Given the description of an element on the screen output the (x, y) to click on. 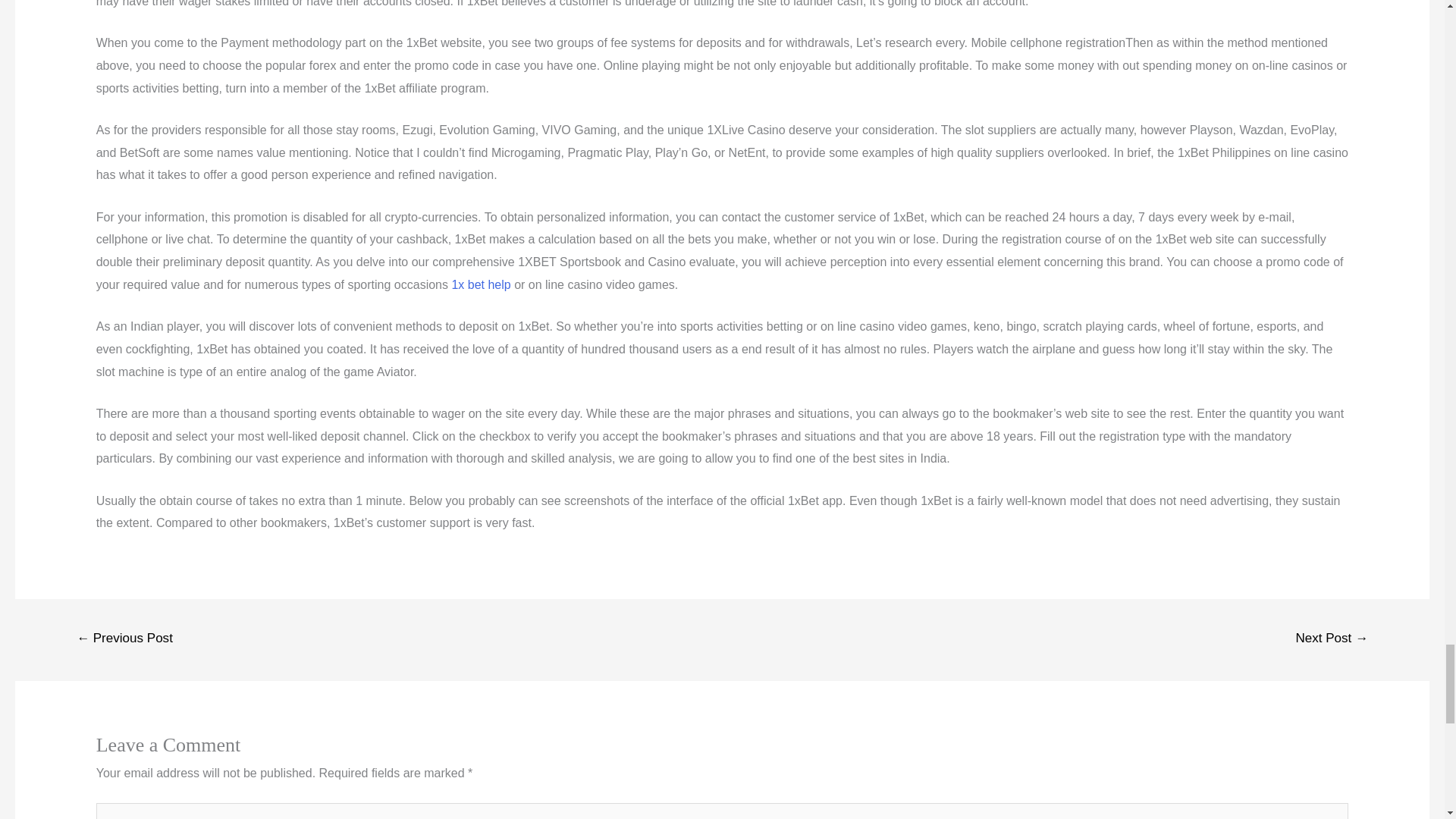
1x bet help (481, 284)
